Given the description of an element on the screen output the (x, y) to click on. 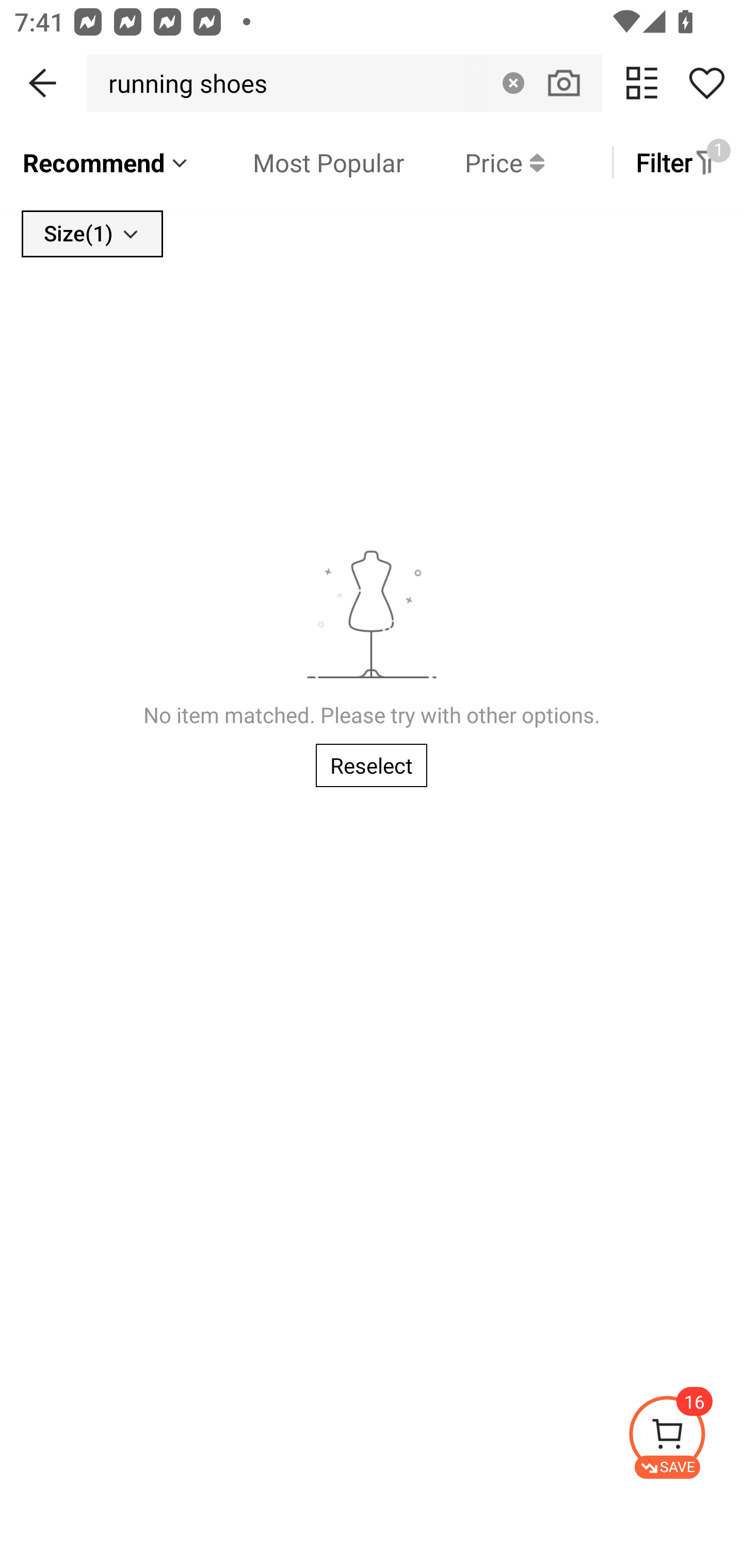
running shoes Clear (343, 82)
running shoes (181, 82)
Clear (513, 82)
change view (641, 82)
Share (706, 82)
Recommend (106, 162)
Most Popular (297, 162)
Price (474, 162)
Filter 1 (677, 162)
Size(1) (91, 233)
Reselect (371, 765)
SAVE (685, 1436)
